Given the description of an element on the screen output the (x, y) to click on. 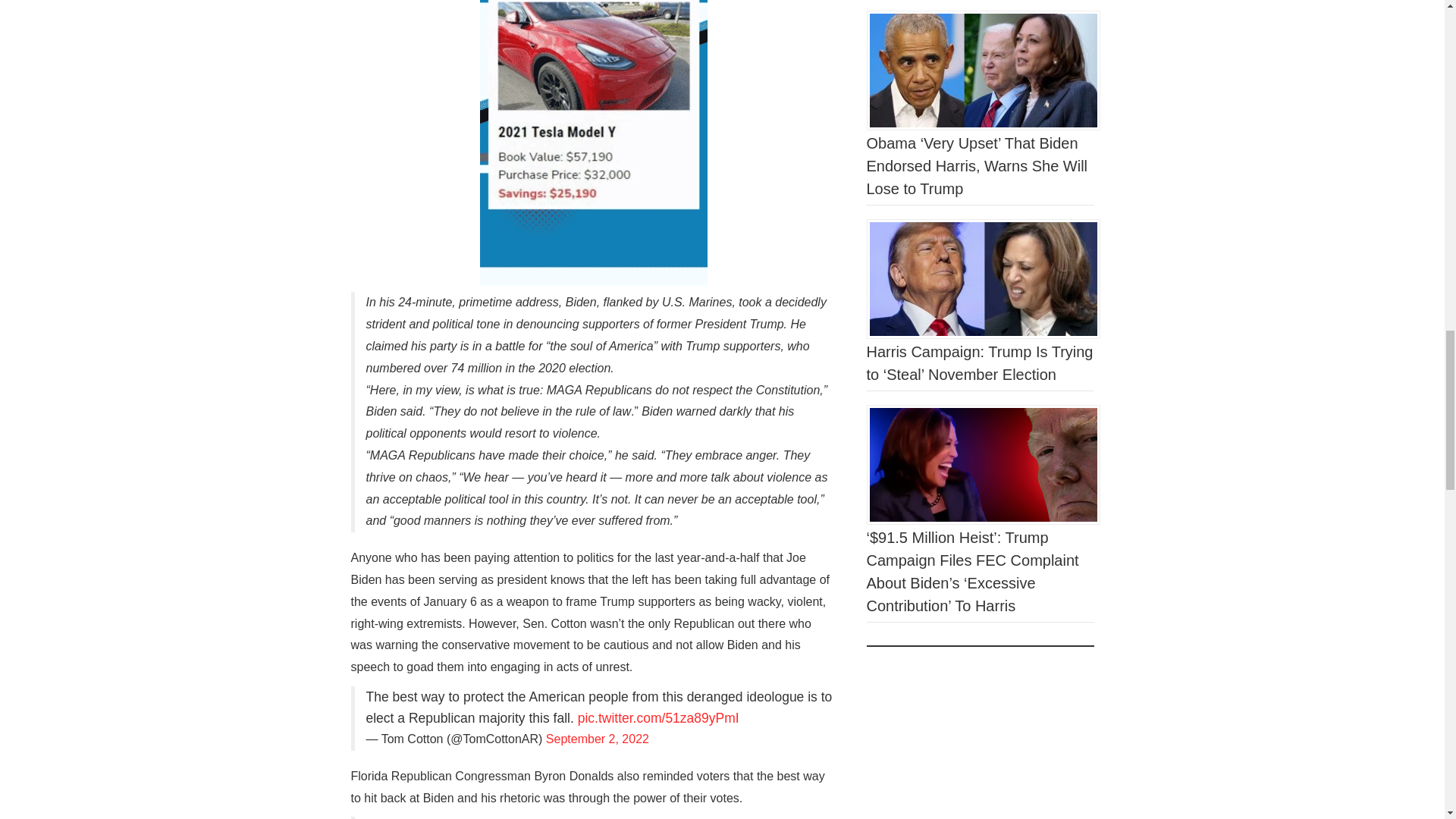
September 2, 2022 (597, 738)
